Given the description of an element on the screen output the (x, y) to click on. 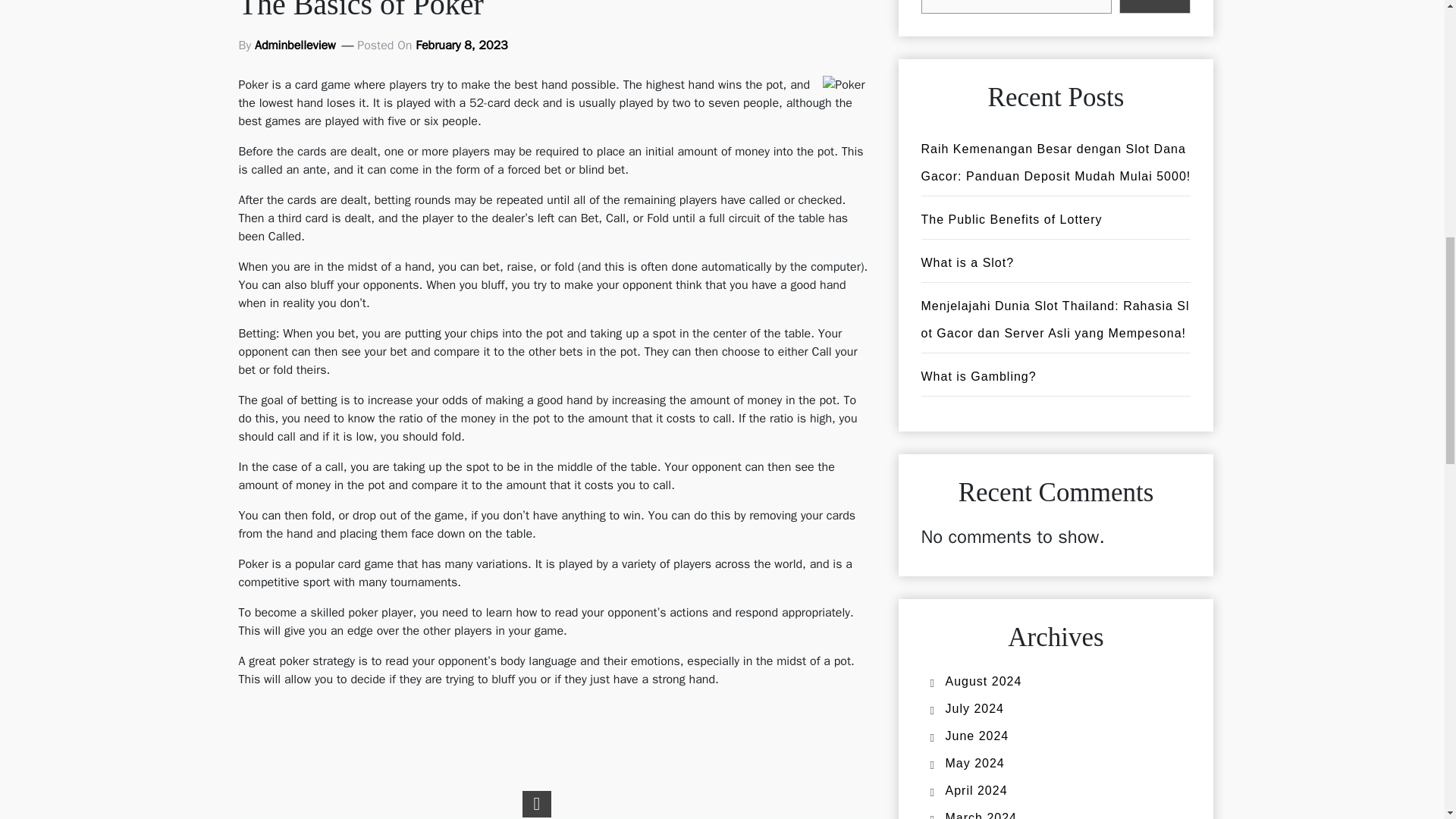
May 2024 (974, 762)
What is a Slot? (966, 262)
June 2024 (976, 735)
Search (1155, 6)
The Public Benefits of Lottery (1011, 219)
April 2024 (975, 789)
What is Gambling? (977, 376)
July 2024 (974, 707)
